Given the description of an element on the screen output the (x, y) to click on. 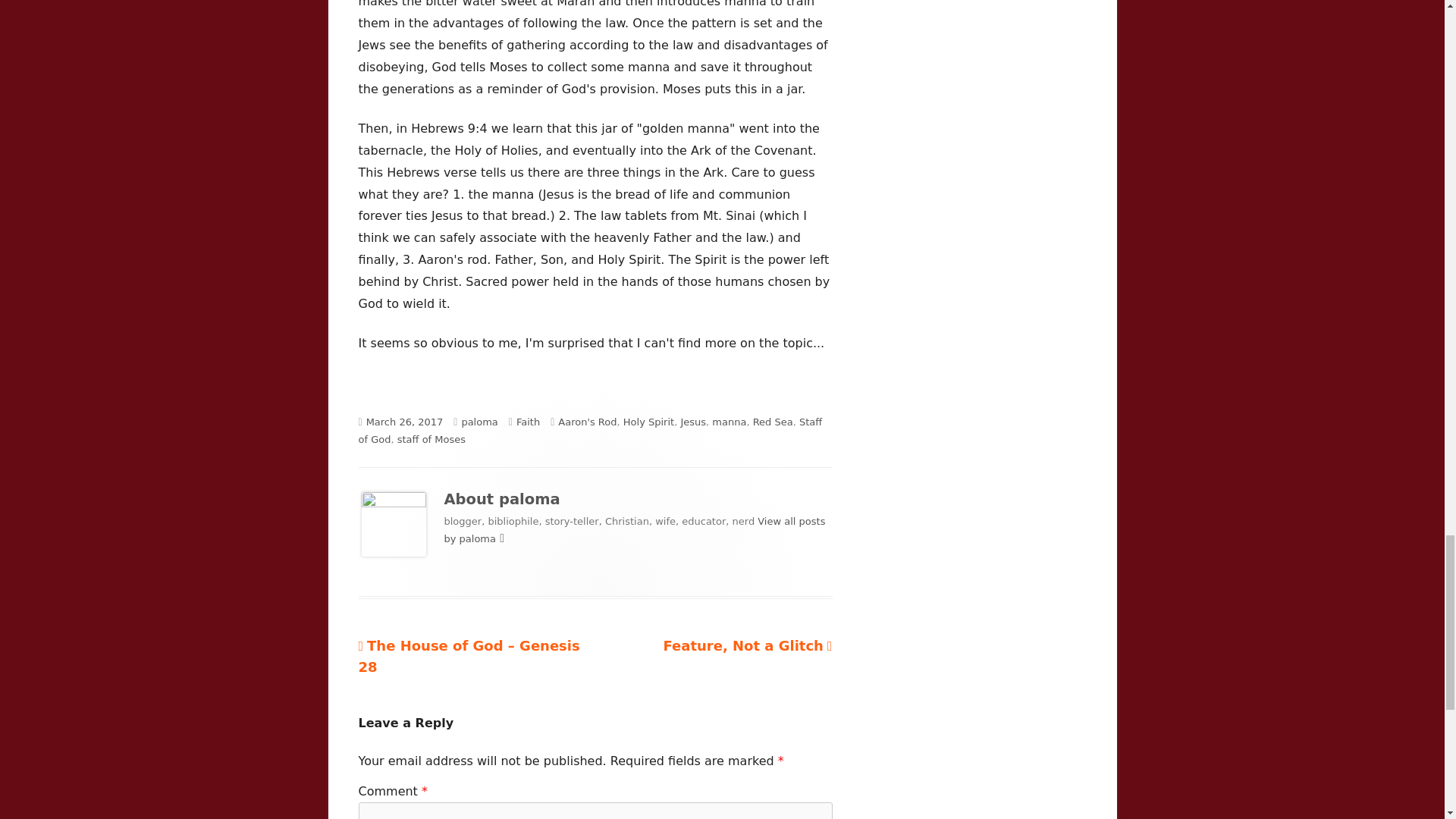
Aaron's Rod (586, 421)
Staff of God (590, 430)
View all posts by paloma (634, 529)
Faith (528, 421)
Jesus (692, 421)
manna (728, 421)
March 26, 2017 (746, 645)
Red Sea (405, 421)
staff of Moses (772, 421)
Holy Spirit (431, 439)
paloma (648, 421)
